Given the description of an element on the screen output the (x, y) to click on. 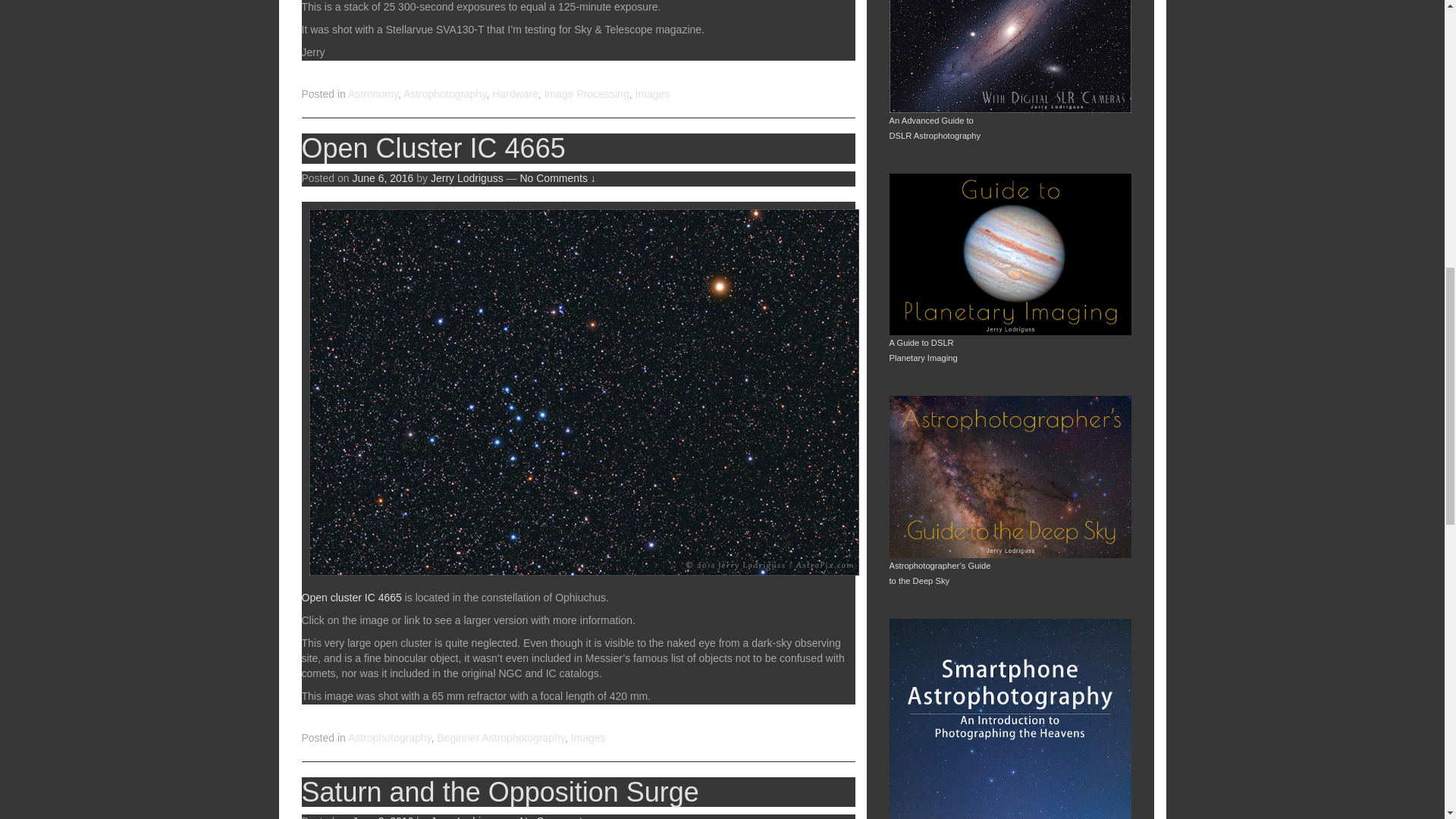
Jerry Lodriguss (466, 177)
Image Processing (586, 93)
Open Cluster IC 4665 (433, 147)
June 6, 2016 (382, 177)
Open cluster IC 4665 (351, 597)
Beginner Astrophotography (500, 737)
2:27 am (382, 816)
June 2, 2016 (382, 816)
Hardware (515, 93)
Astrophotography (388, 737)
